Given the description of an element on the screen output the (x, y) to click on. 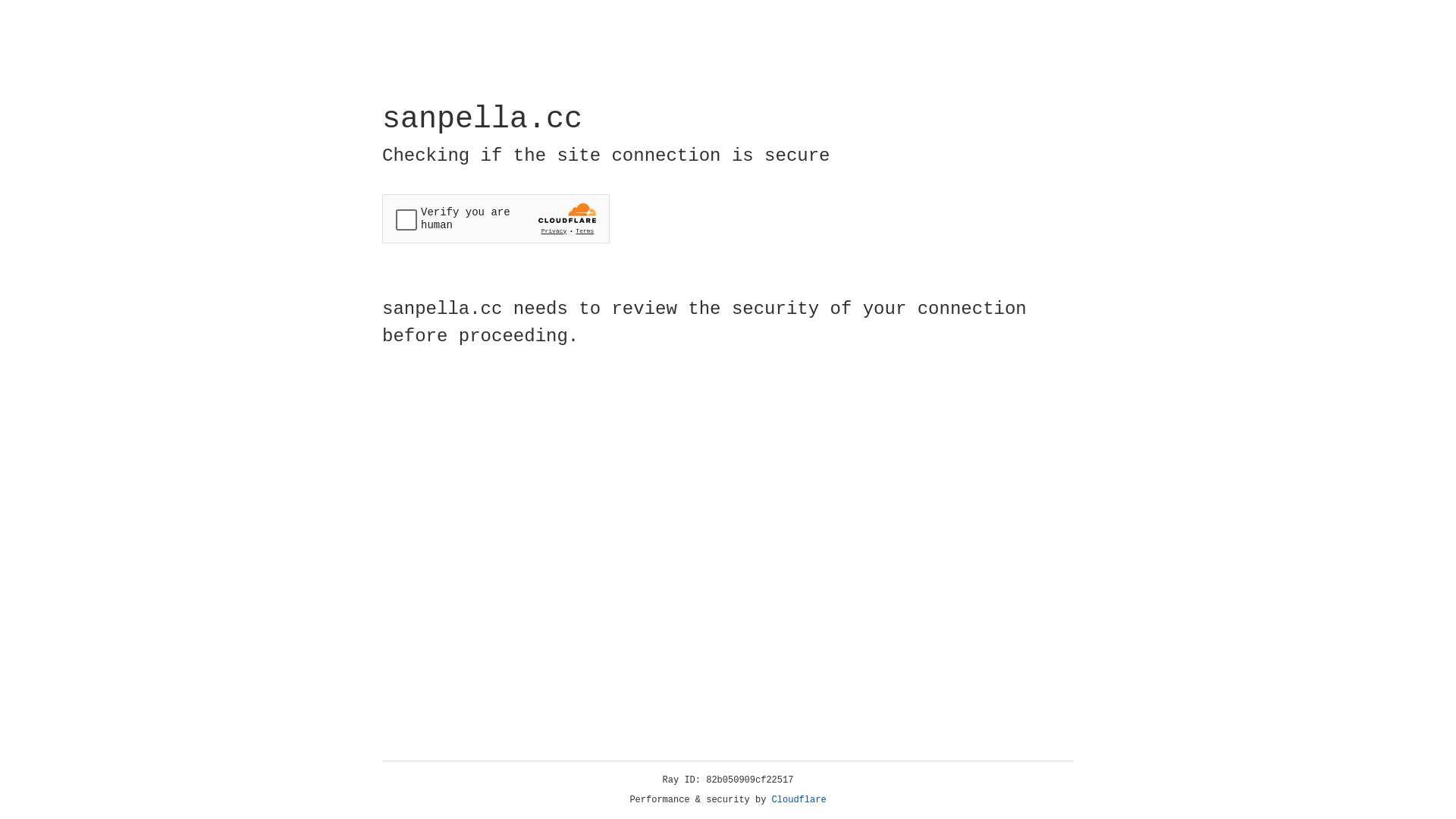
Widget containing a Cloudflare security challenge Element type: hover (495, 218)
Cloudflare Element type: text (798, 799)
